Given the description of an element on the screen output the (x, y) to click on. 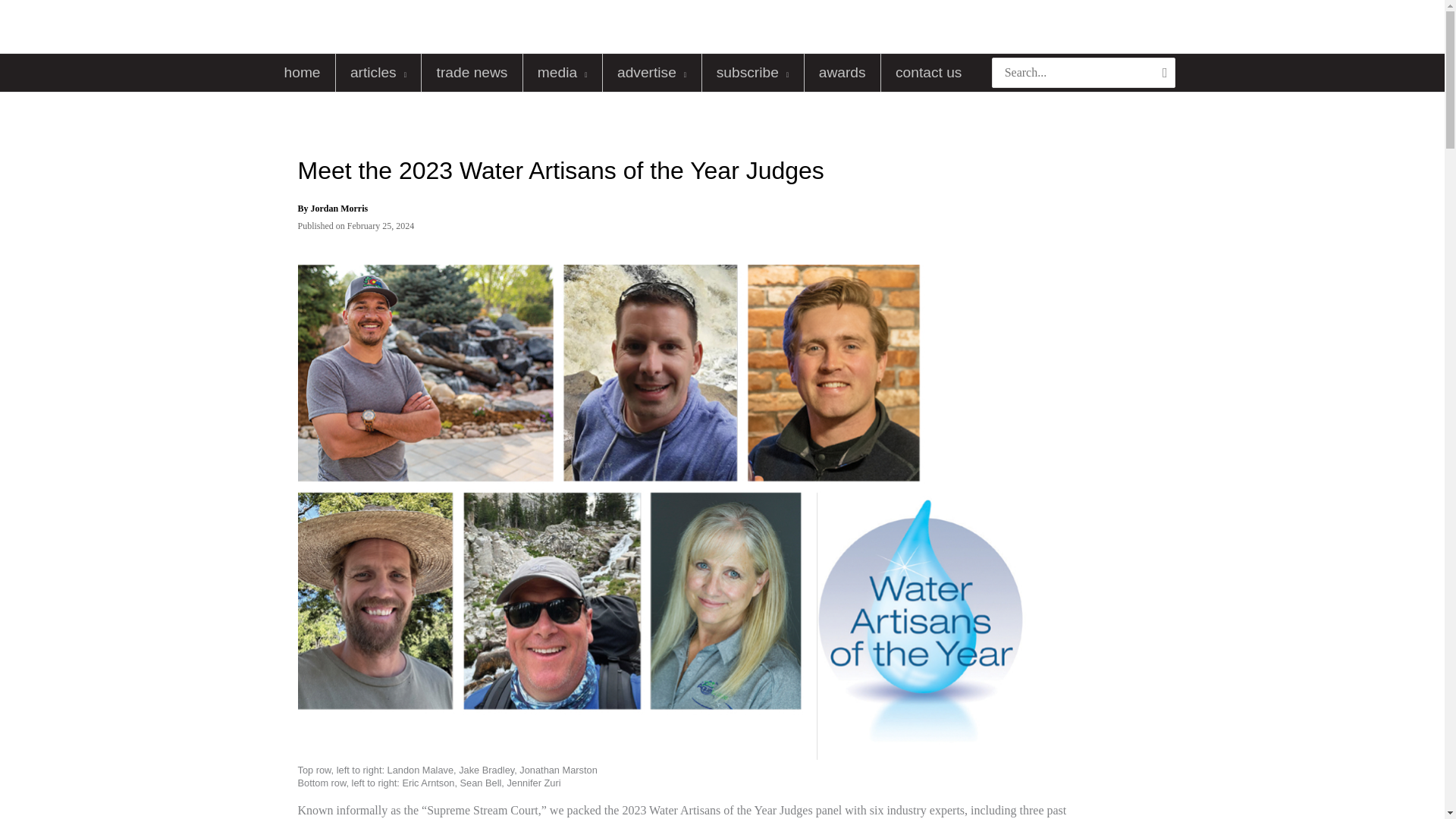
contact us (928, 72)
home (301, 72)
awards (842, 72)
trade news (471, 72)
articles (379, 72)
subscribe (752, 72)
advertise (651, 72)
media (562, 72)
